Given the description of an element on the screen output the (x, y) to click on. 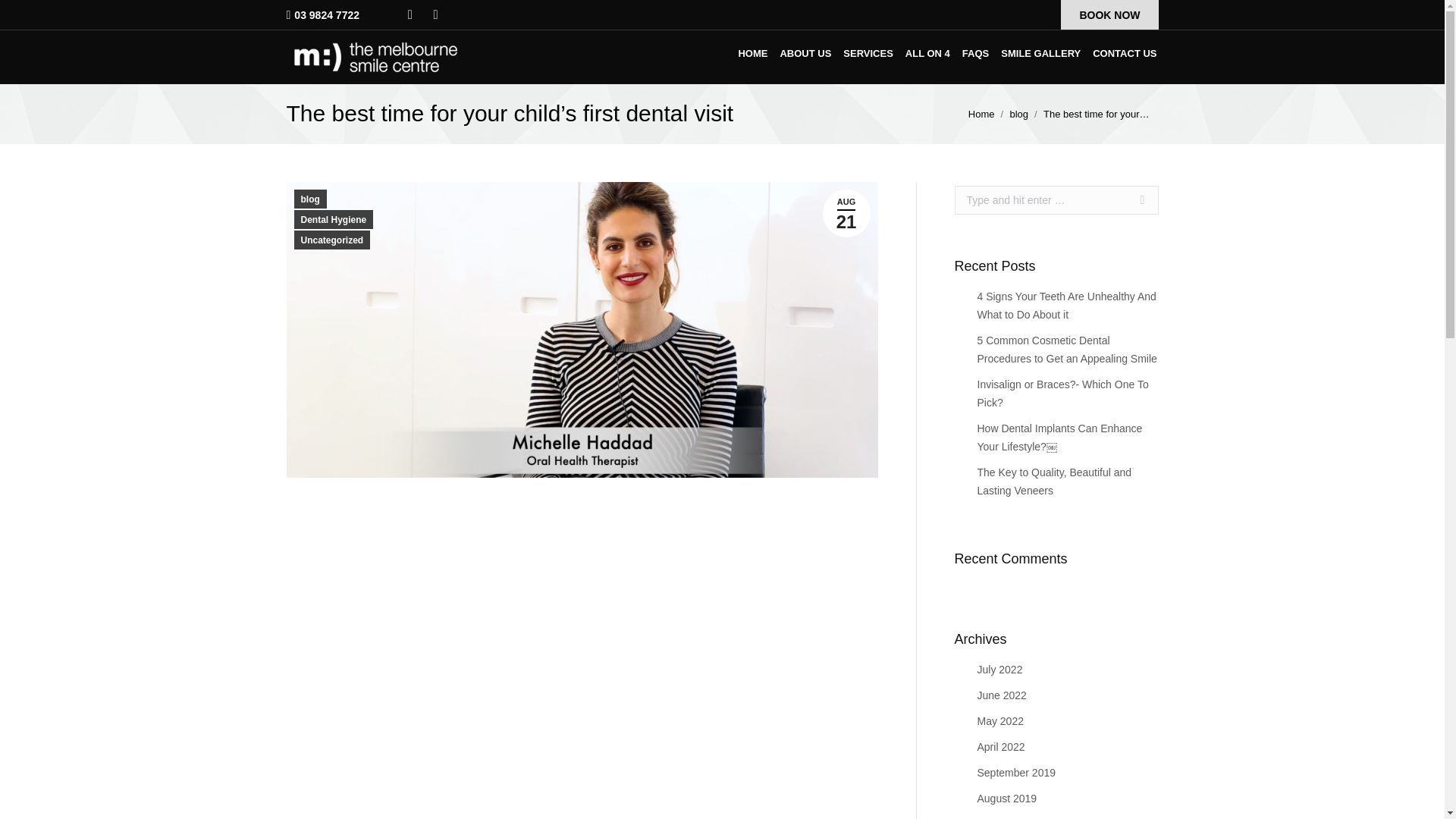
SERVICES (868, 53)
ABOUT US (804, 53)
HOME (752, 53)
Go! (1136, 199)
CONTACT US (1123, 53)
ALL ON 4 (928, 53)
BOOK NOW (1109, 15)
03 9824 7722 (326, 14)
SMILE GALLERY (1039, 53)
6:28 am (845, 213)
Go! (1136, 199)
FAQS (975, 53)
